Given the description of an element on the screen output the (x, y) to click on. 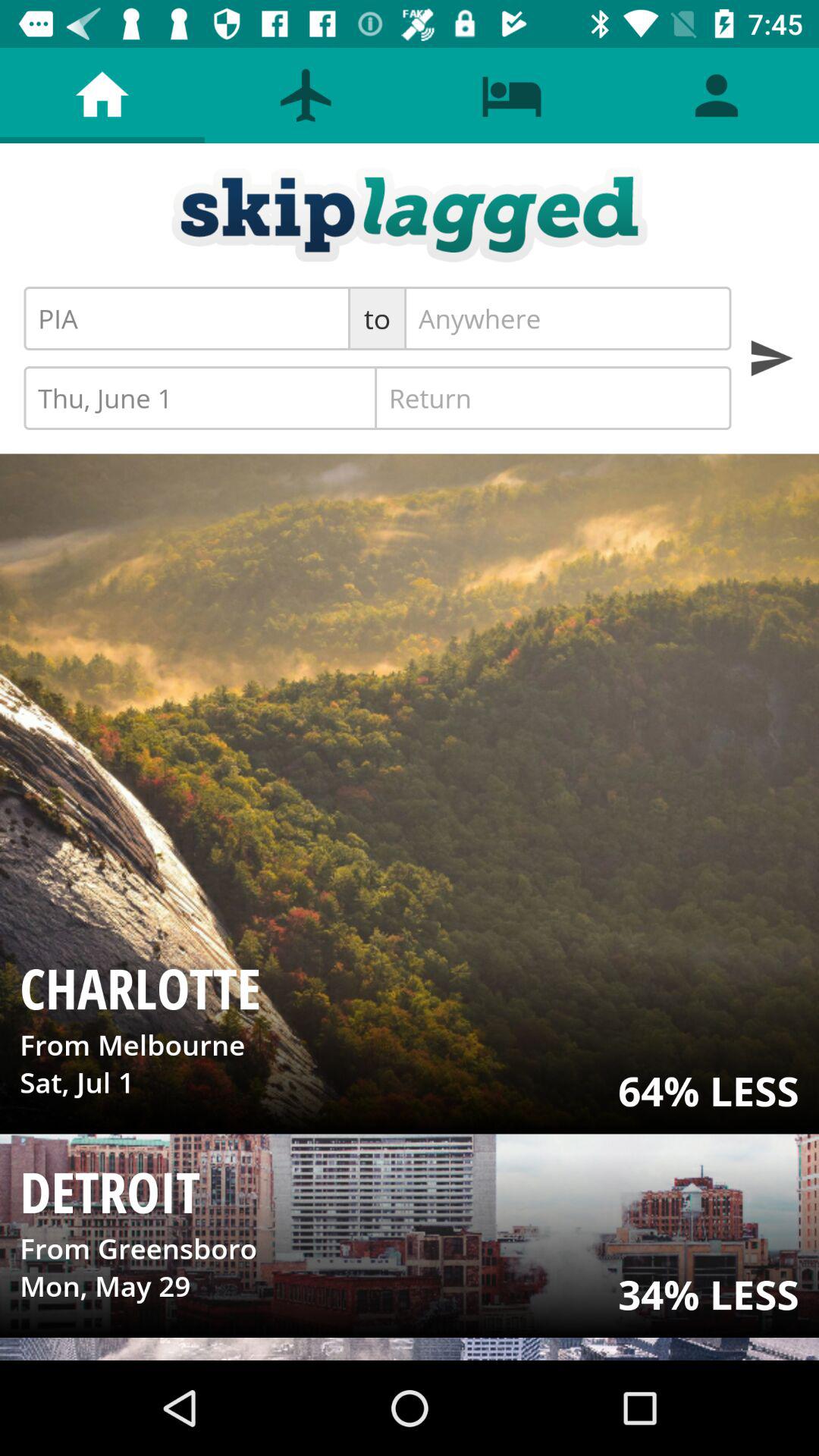
enter location (567, 318)
